Given the description of an element on the screen output the (x, y) to click on. 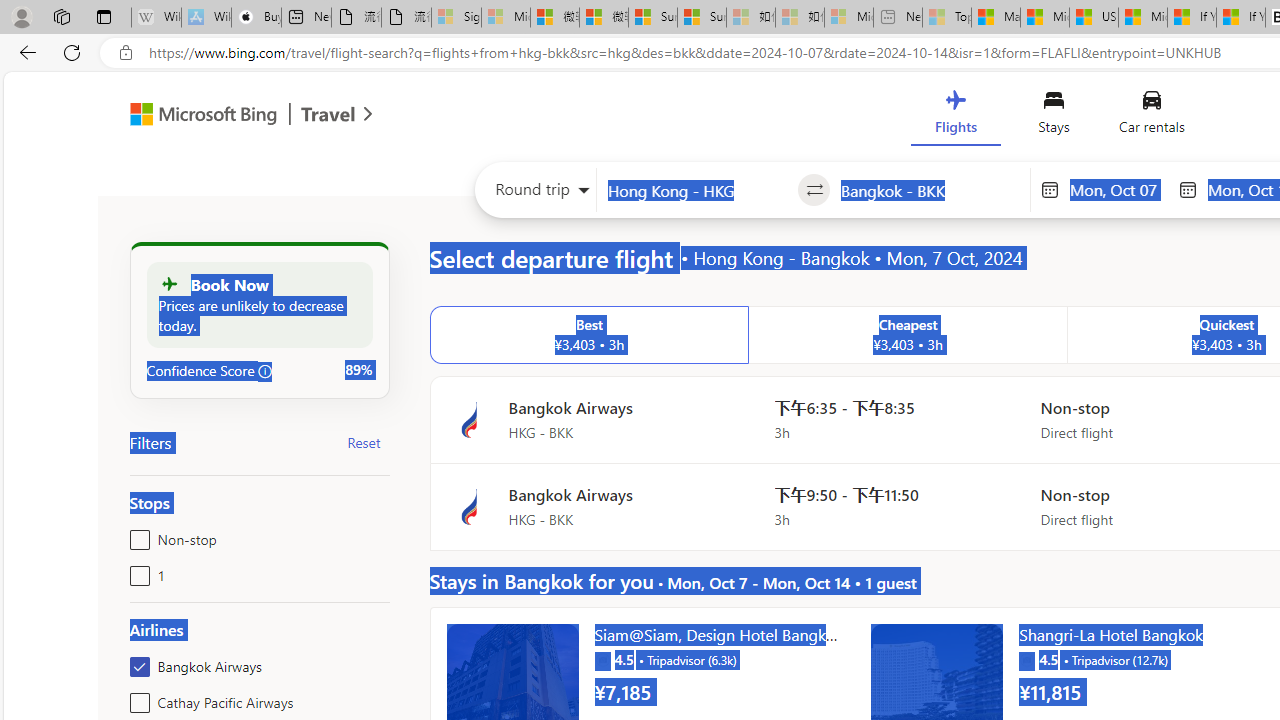
Info tooltip (265, 371)
Class: autosuggest-container full-height no-y-padding (930, 190)
Microsoft Bing Travel (229, 116)
